Given the description of an element on the screen output the (x, y) to click on. 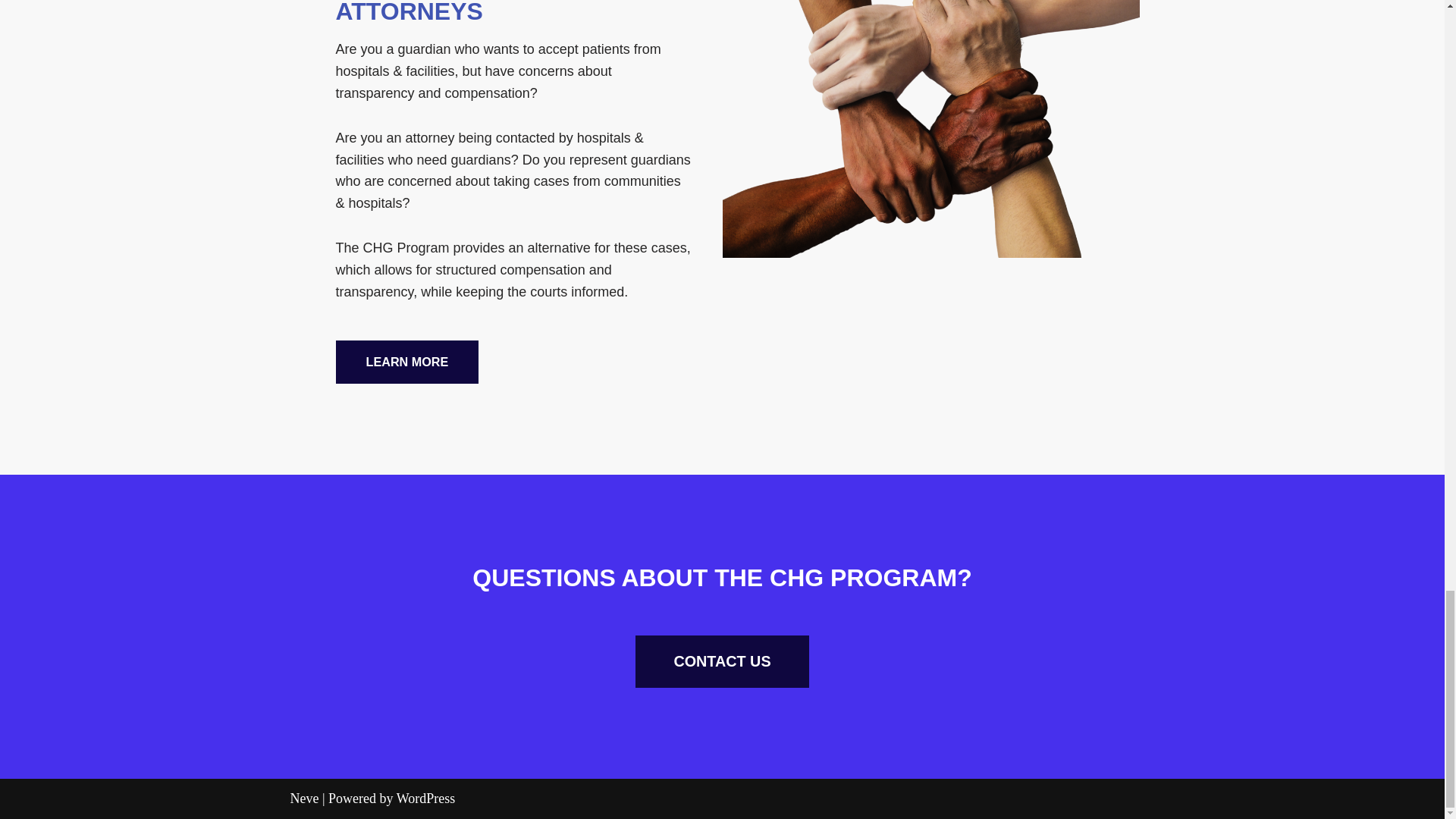
Neve (303, 798)
CONTACT US (721, 661)
WordPress (425, 798)
LEARN MORE (406, 361)
